Given the description of an element on the screen output the (x, y) to click on. 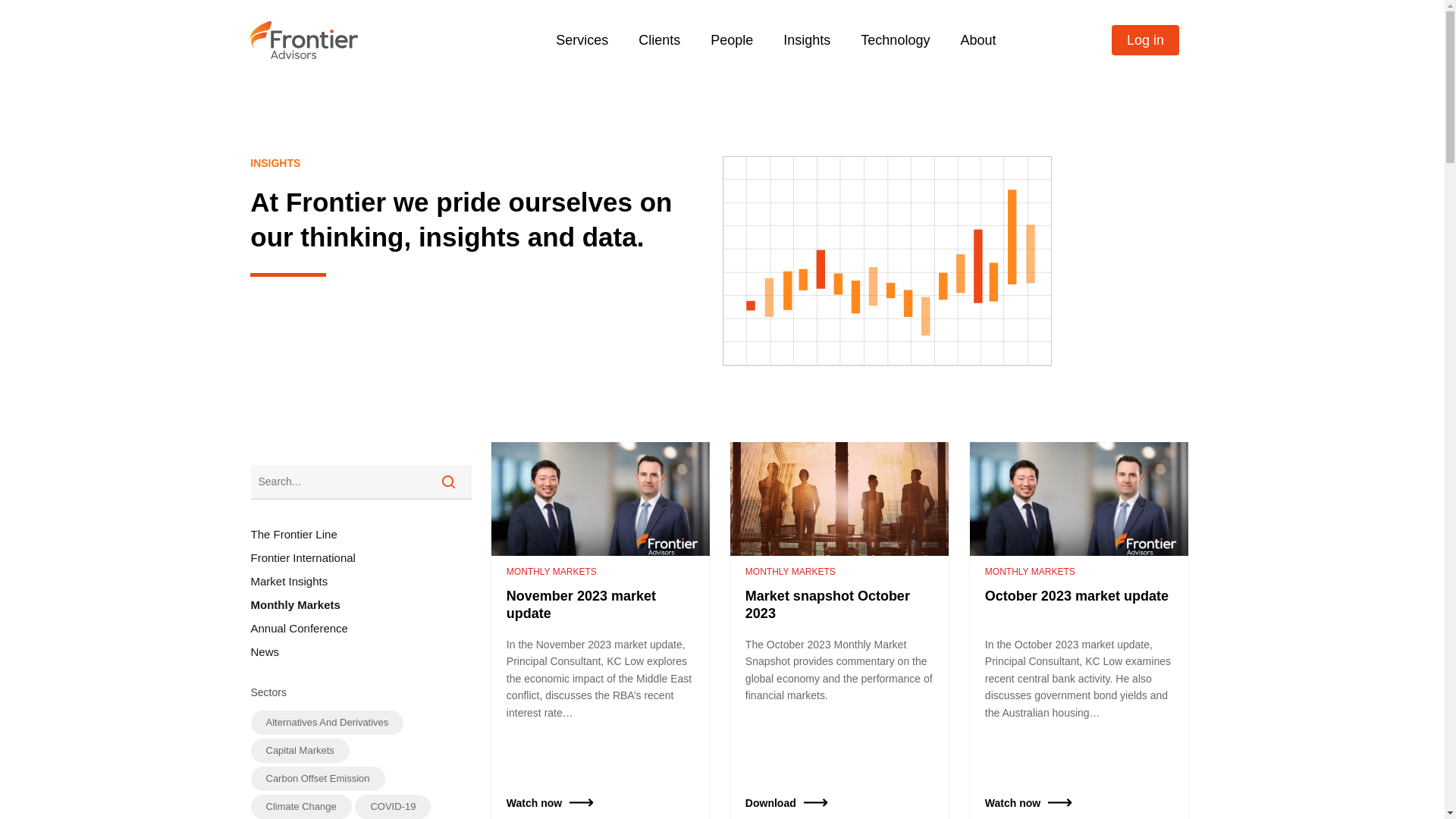
Alternatives And Derivatives Element type: text (326, 722)
MONTHLY MARKETS Element type: text (551, 571)
Monthly Markets Element type: text (360, 604)
Frontier International Element type: text (360, 557)
October 2023 market update Element type: text (1079, 594)
MONTHLY MARKETS Element type: text (790, 571)
People Element type: text (731, 40)
Technology Element type: text (894, 40)
News Element type: text (360, 651)
Search for: Element type: hover (360, 481)
Watch now Element type: text (1012, 802)
Clients Element type: text (659, 40)
Download Element type: text (770, 802)
Market snapshot October 2023 Element type: text (839, 603)
November 2023 market update Element type: text (600, 603)
Watch now Element type: text (533, 802)
Capital Markets Element type: text (299, 750)
About Element type: text (977, 40)
The Frontier Line Element type: text (360, 534)
Services Element type: text (581, 40)
Carbon Offset Emission Element type: text (317, 778)
Log in Element type: text (1145, 40)
Market Insights Element type: text (360, 581)
Insights Element type: text (806, 40)
Annual Conference Element type: text (360, 628)
MONTHLY MARKETS Element type: text (1030, 571)
